Given the description of an element on the screen output the (x, y) to click on. 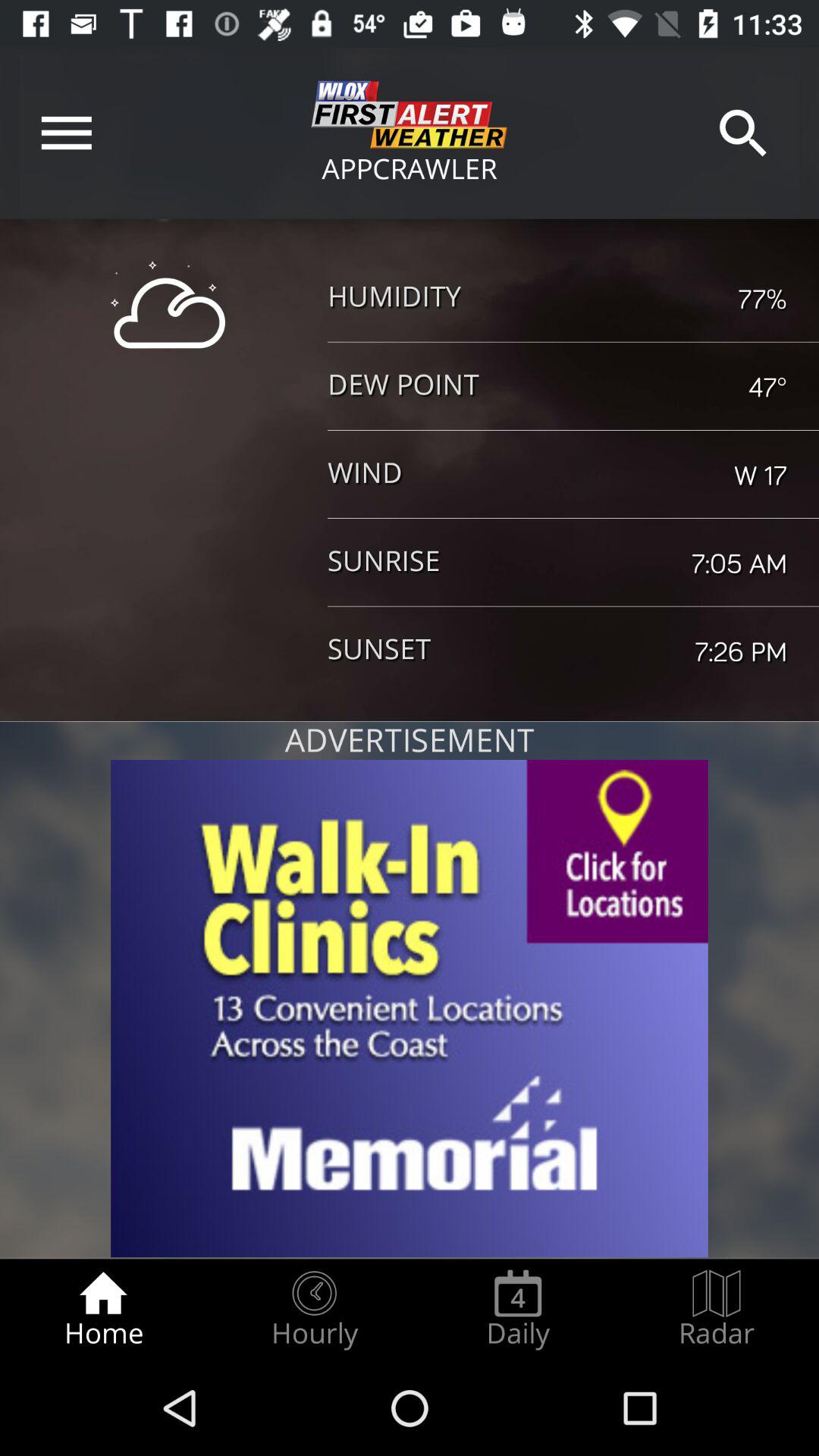
turn off the radio button to the left of the daily icon (314, 1309)
